Given the description of an element on the screen output the (x, y) to click on. 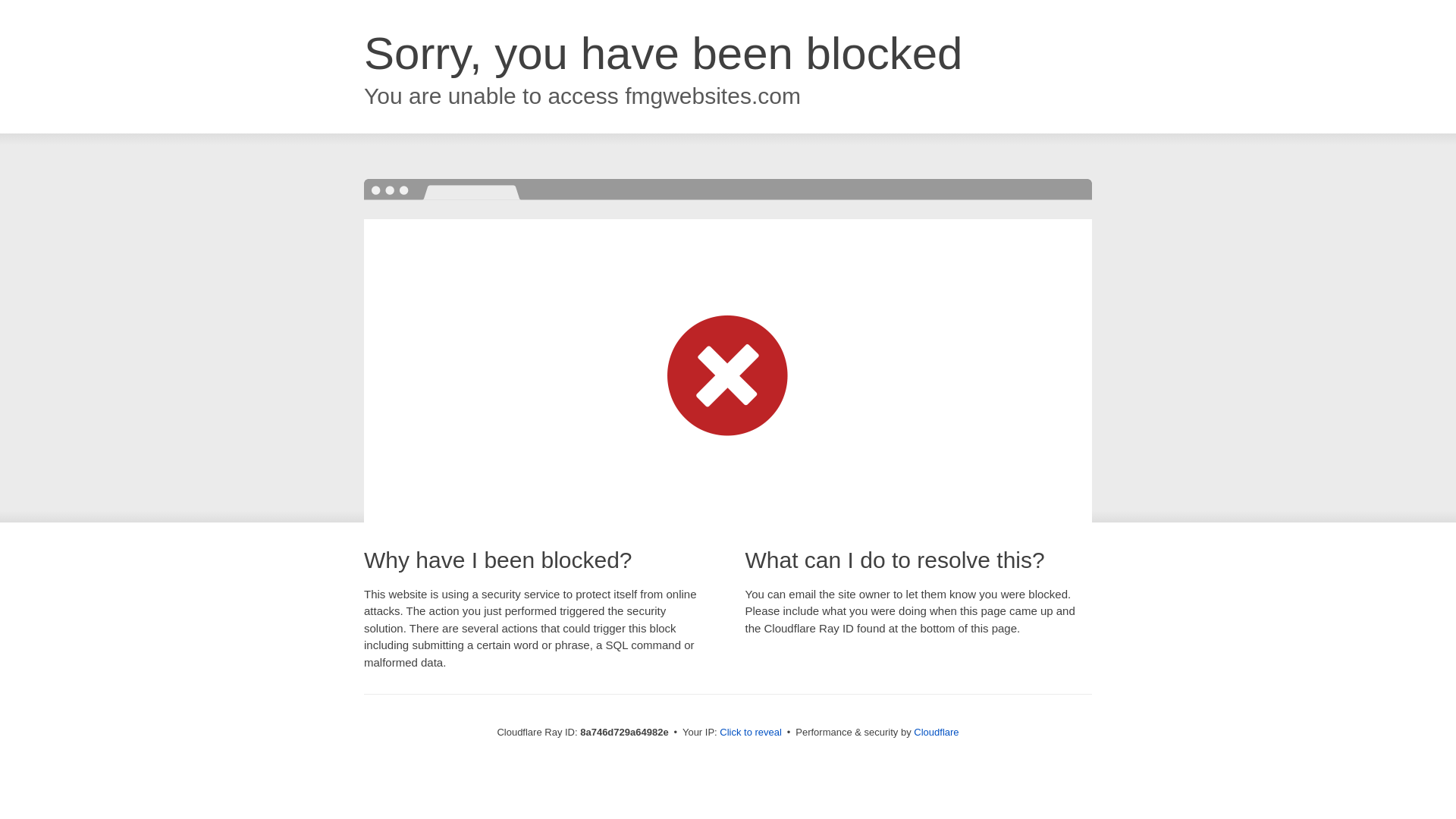
Cloudflare (936, 731)
Click to reveal (750, 732)
